Given the description of an element on the screen output the (x, y) to click on. 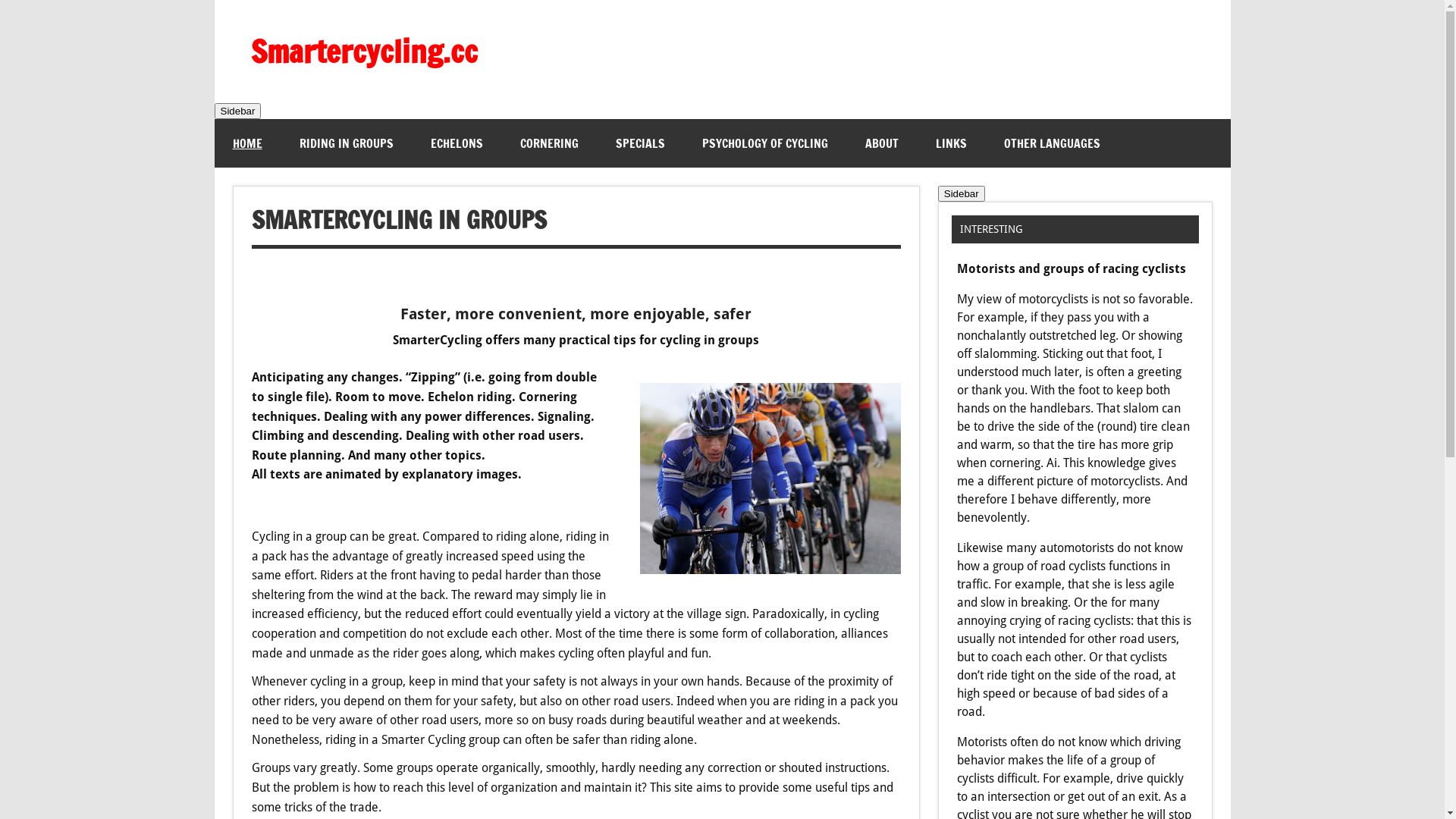
Sidebar Element type: text (961, 193)
HOME Element type: text (246, 143)
OTHER LANGUAGES Element type: text (1051, 143)
ABOUT Element type: text (881, 143)
PSYCHOLOGY OF CYCLING Element type: text (765, 143)
CORNERING Element type: text (549, 143)
Smartercycling.cc Element type: text (363, 50)
RIDING IN GROUPS Element type: text (345, 143)
ECHELONS Element type: text (456, 143)
Sidebar Element type: text (236, 111)
SPECIALS Element type: text (640, 143)
LINKS Element type: text (951, 143)
